Given the description of an element on the screen output the (x, y) to click on. 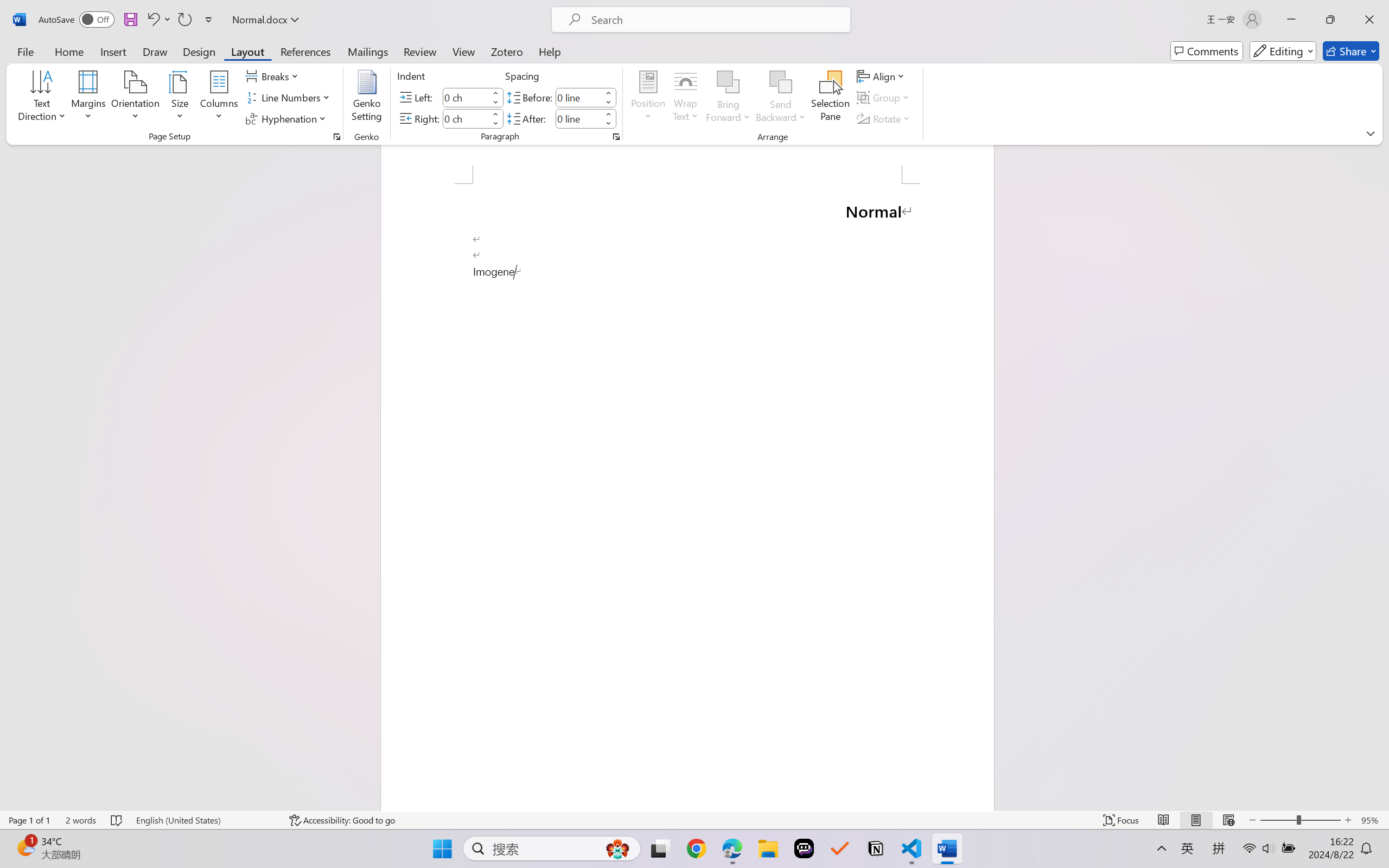
Rotate (884, 118)
Hyphenation (287, 118)
Margins (88, 97)
Repeat Italic (184, 19)
More (608, 113)
Class: MsoCommandBar (694, 819)
